Given the description of an element on the screen output the (x, y) to click on. 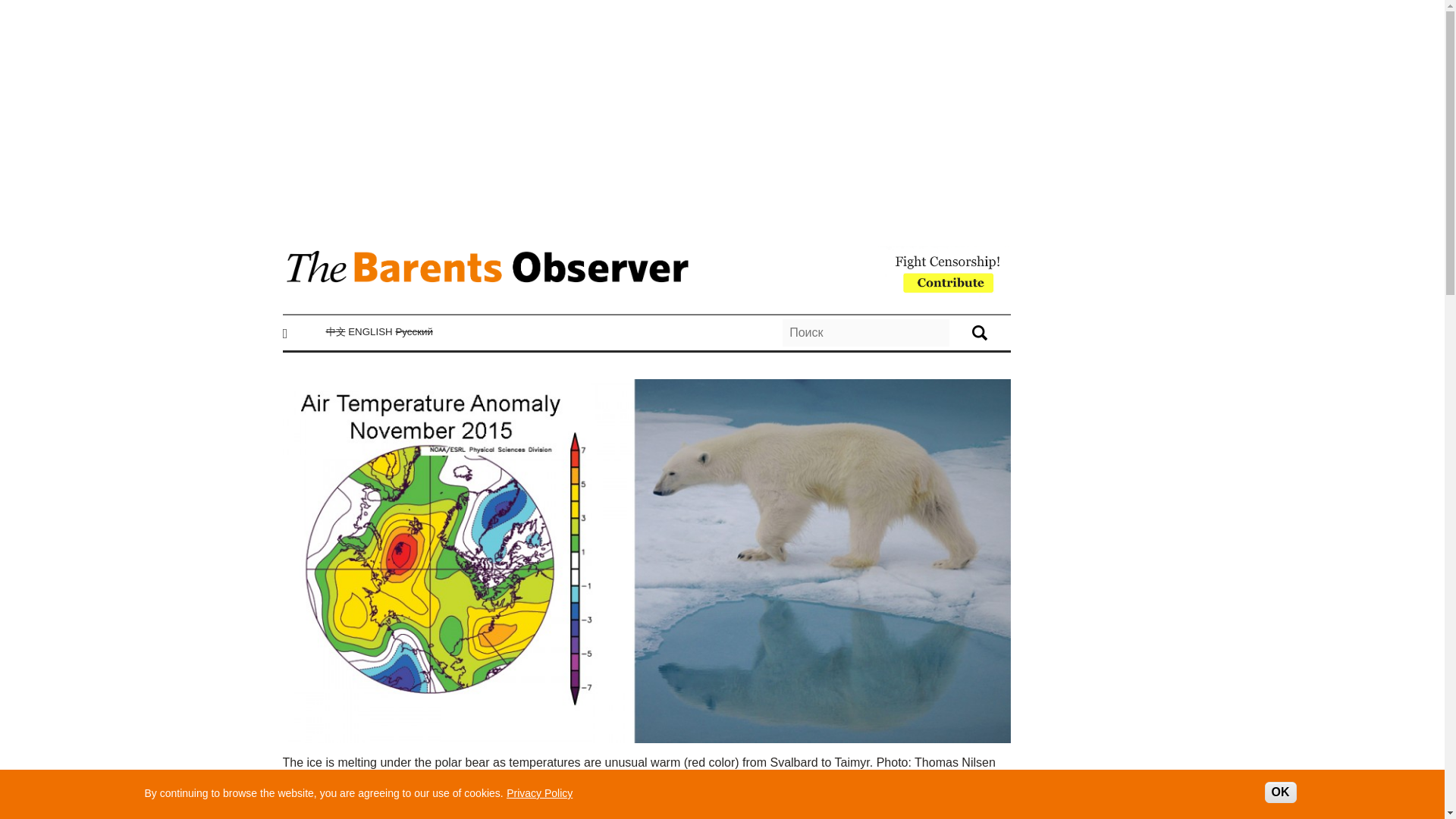
ENGLISH (370, 331)
